Given the description of an element on the screen output the (x, y) to click on. 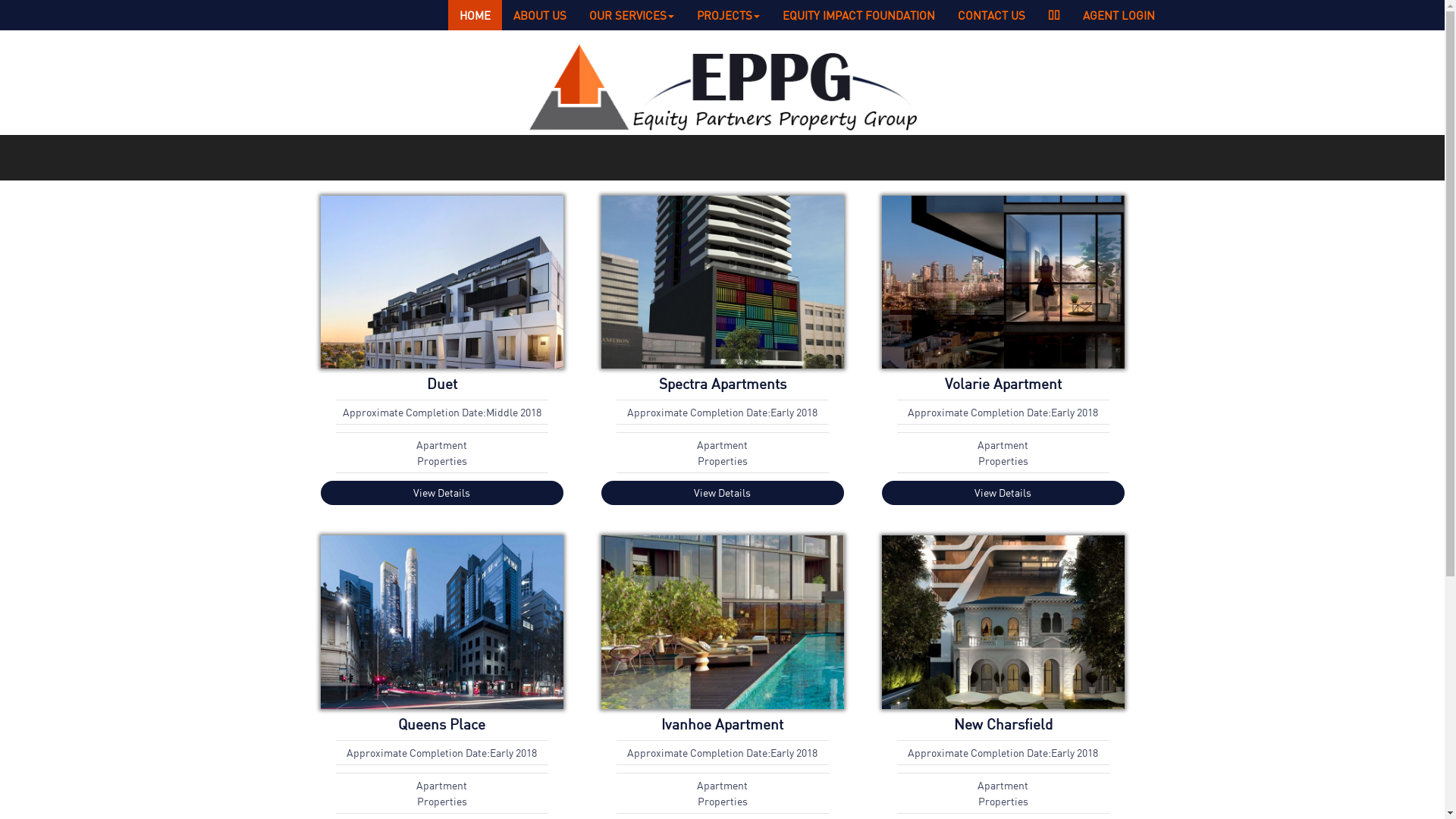
Spectra Apartments Element type: text (721, 383)
View Details Element type: text (1002, 492)
AGENT LOGIN Element type: text (1117, 15)
CONTACT US Element type: text (991, 15)
EQUITY IMPACT FOUNDATION Element type: text (857, 15)
Duet Element type: text (441, 383)
Queens Place Element type: text (441, 723)
ABOUT US Element type: text (539, 15)
Volarie Apartment Element type: text (1002, 383)
New Charsfield Element type: text (1002, 723)
OUR SERVICES Element type: text (631, 15)
View Details Element type: text (721, 492)
Ivanhoe Apartment Element type: text (722, 723)
HOME Element type: text (474, 15)
View Details Element type: text (441, 492)
PROJECTS Element type: text (728, 15)
